Given the description of an element on the screen output the (x, y) to click on. 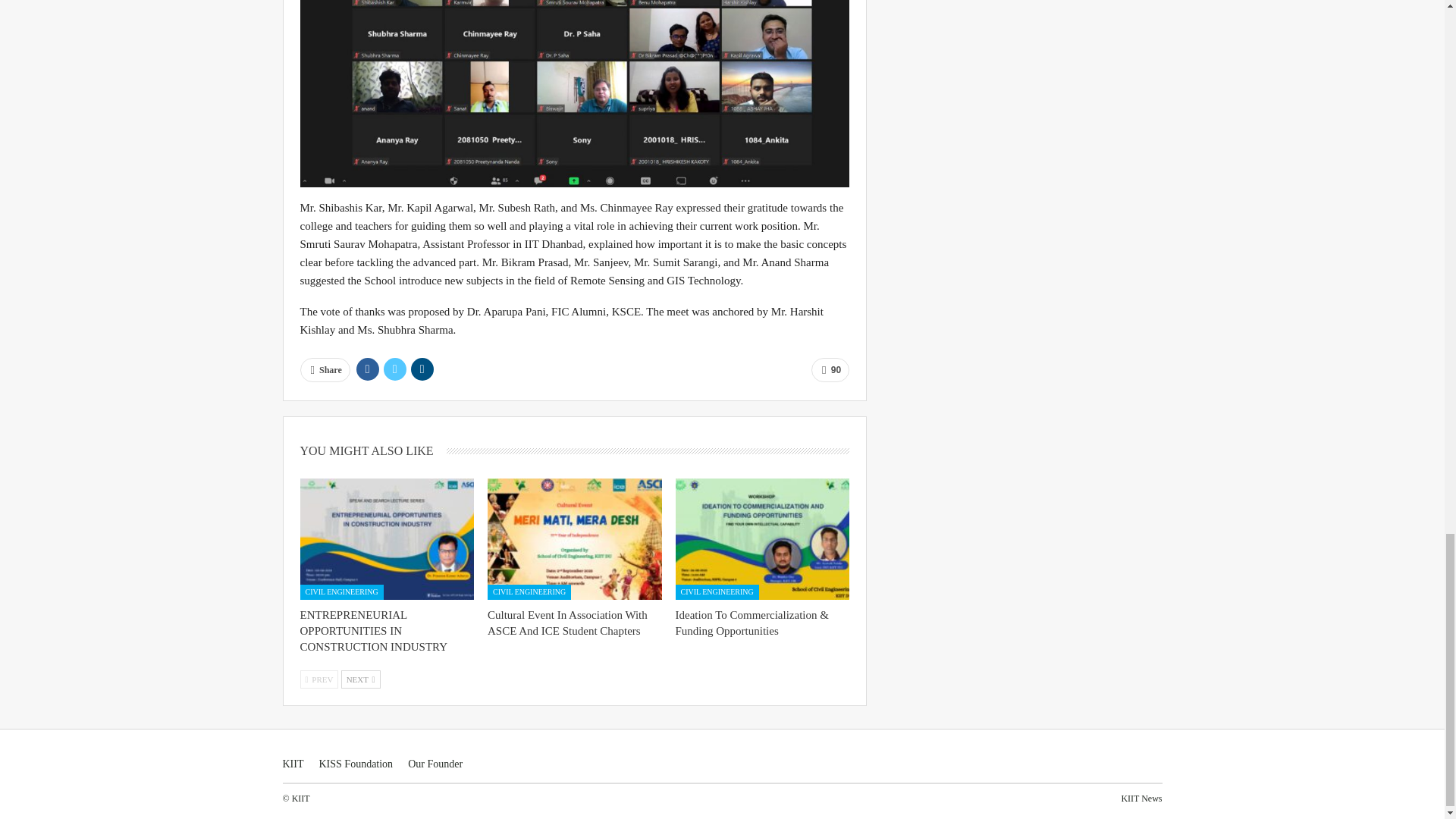
CIVIL ENGINEERING (341, 592)
Previous (319, 679)
Next (360, 679)
ENTREPRENEURIAL OPPORTUNITIES IN CONSTRUCTION INDUSTRY (386, 539)
ENTREPRENEURIAL OPPORTUNITIES IN CONSTRUCTION INDUSTRY (373, 630)
